Given the description of an element on the screen output the (x, y) to click on. 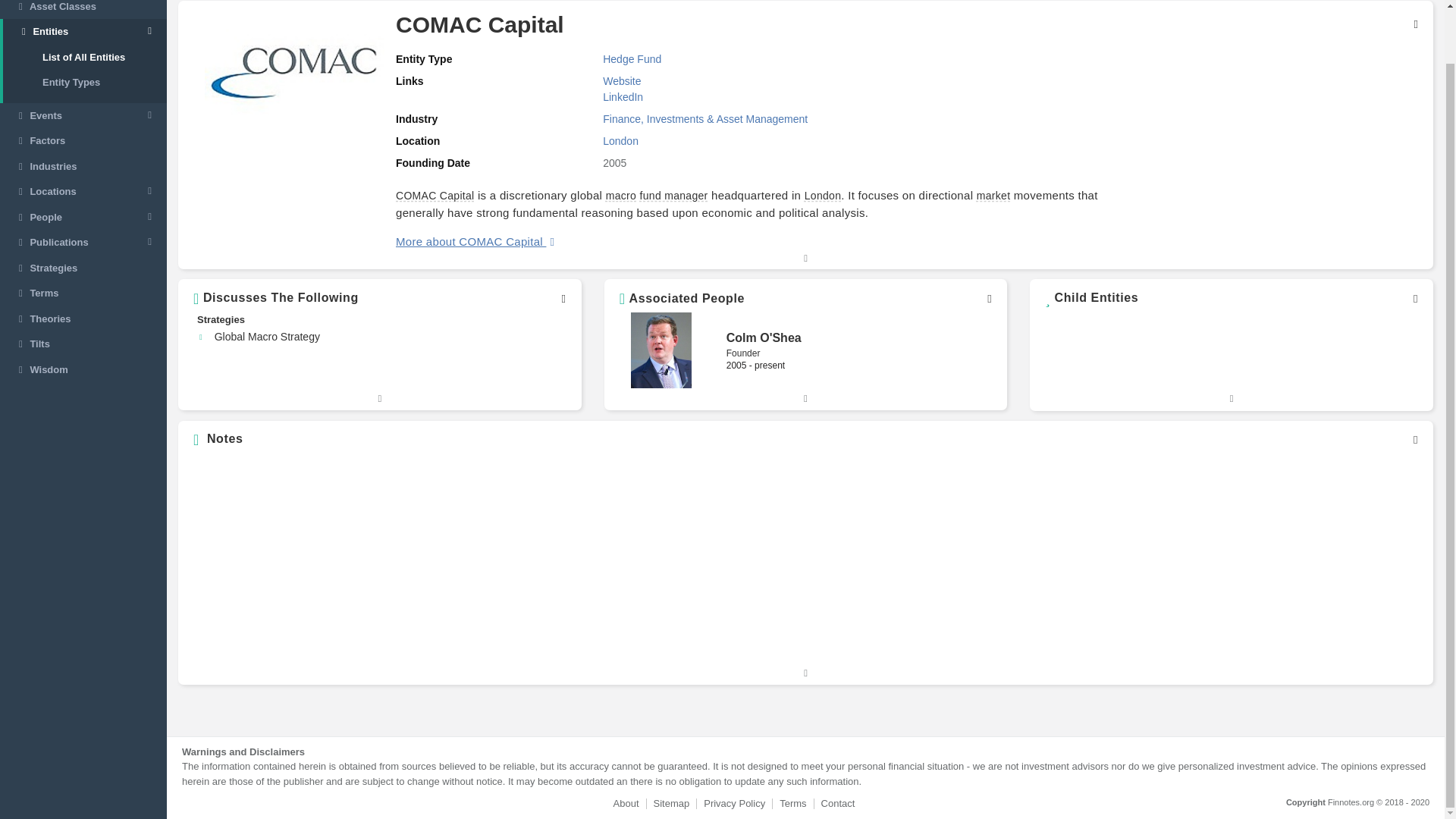
Entities (84, 31)
fund manager (673, 195)
market (993, 195)
Advertisement (1275, 559)
Theories (83, 319)
Entity Types (84, 82)
London (823, 195)
LinkedIn (622, 97)
Tilts (83, 344)
People (83, 217)
Industries (83, 166)
Hedge Fund (631, 59)
COMAC Capital (435, 195)
London (620, 141)
Asset Classes (83, 9)
